Given the description of an element on the screen output the (x, y) to click on. 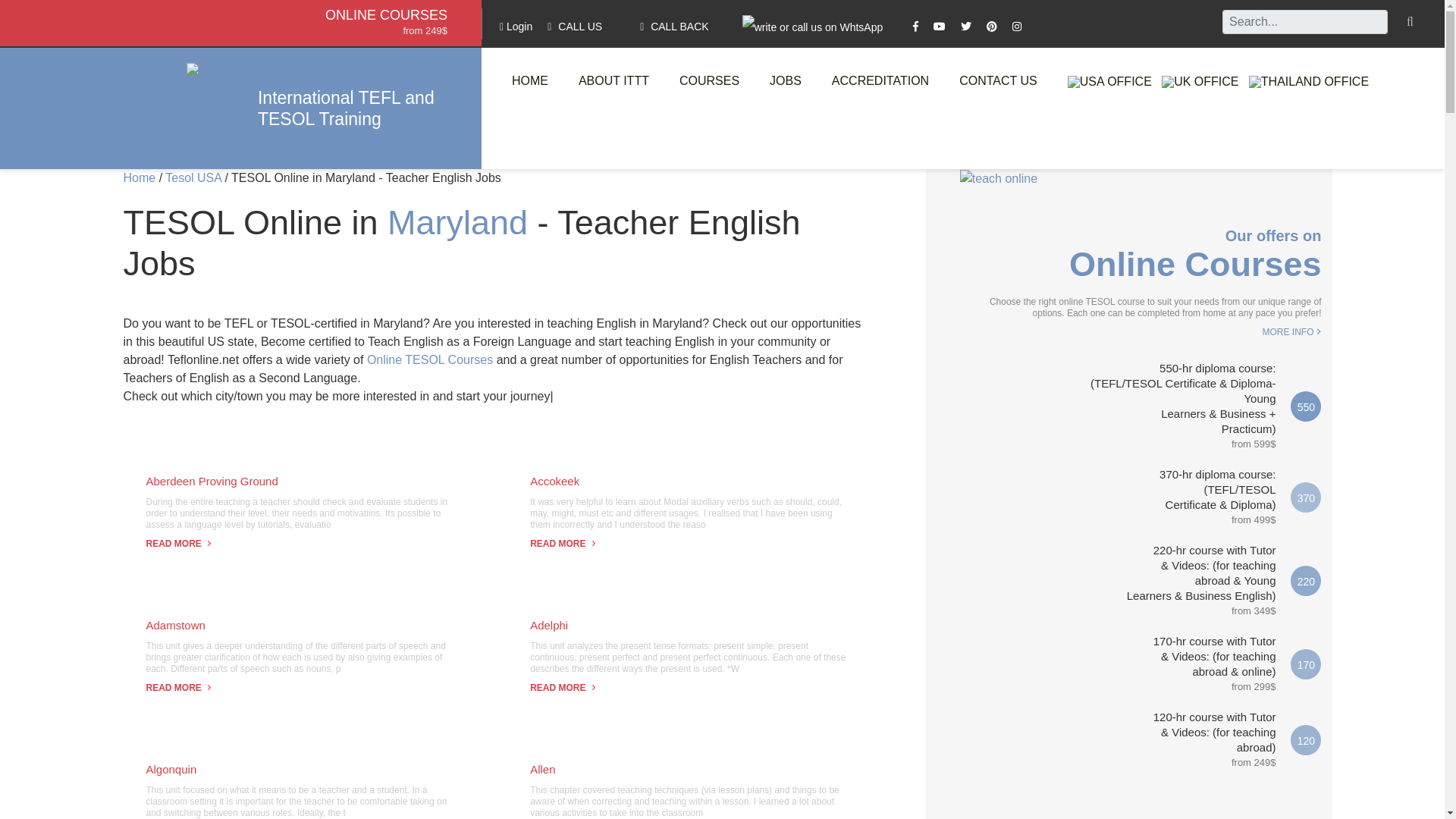
Thailand Office (1308, 81)
ACCREDITATION (879, 80)
ABOUT ITTT (613, 80)
CALL BACK (674, 26)
CALL US (574, 26)
International TEFL and TESOL Training (351, 107)
ONLINE COURSES (385, 14)
UK Office (1200, 81)
Login (515, 26)
JOBS (785, 80)
HOME (529, 80)
USA Office (1109, 81)
